Given the description of an element on the screen output the (x, y) to click on. 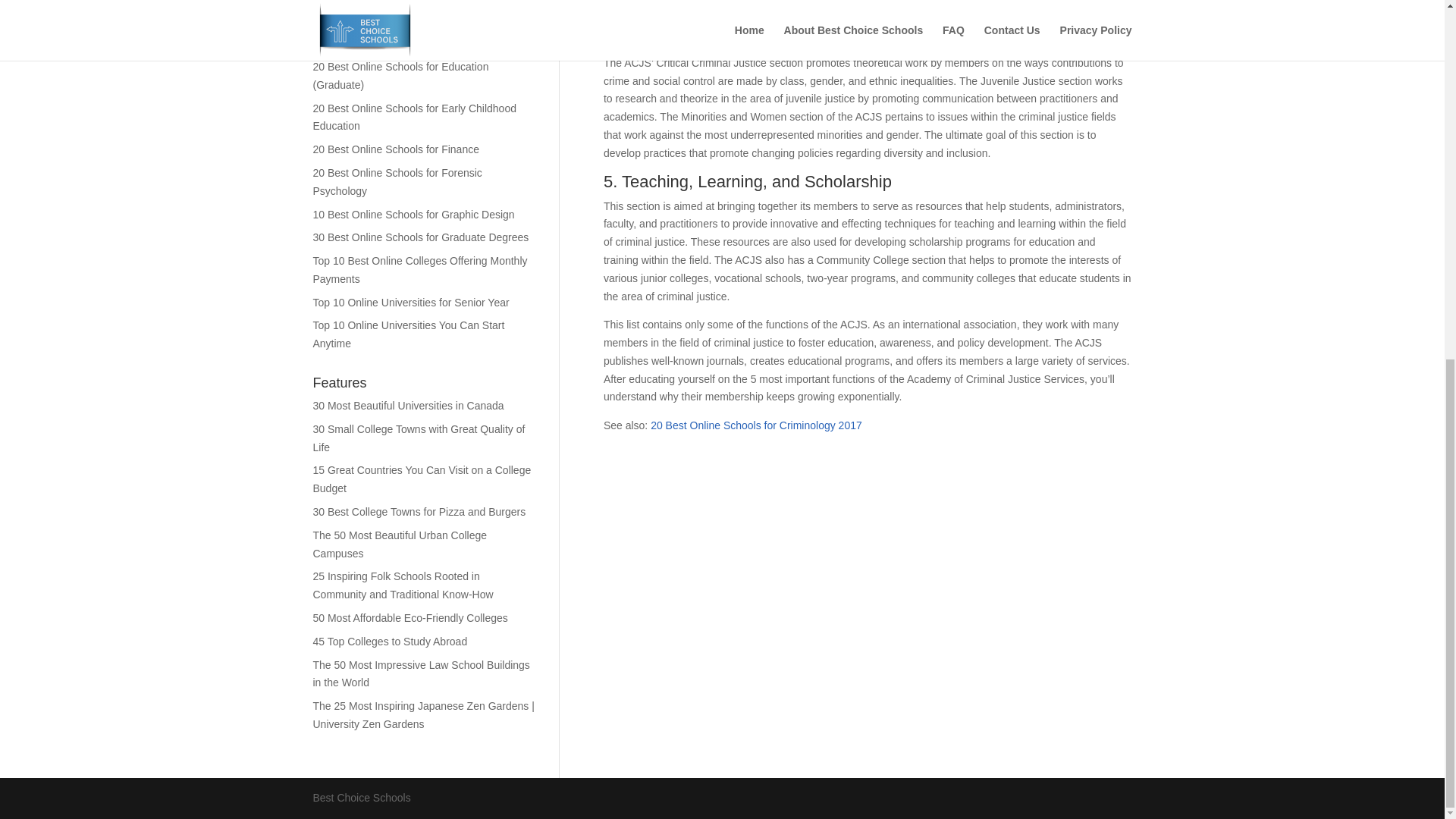
20 Best Online Schools for Counseling (404, 1)
30 Small College Towns with Great Quality of Life (418, 438)
45 Top Colleges to Study Abroad (390, 641)
20 Best Online Schools for Early Childhood Education (414, 117)
20 Best Online Schools for Criminology (405, 19)
Top 10 Online Universities You Can Start Anytime (408, 334)
20 Best Online Schools for Forensic Psychology (397, 182)
30 Best Online Schools for Graduate Degrees (420, 236)
10 Best Online Schools for Graphic Design (413, 214)
Top 10 Best Online Colleges Offering Monthly Payments (420, 269)
